Given the description of an element on the screen output the (x, y) to click on. 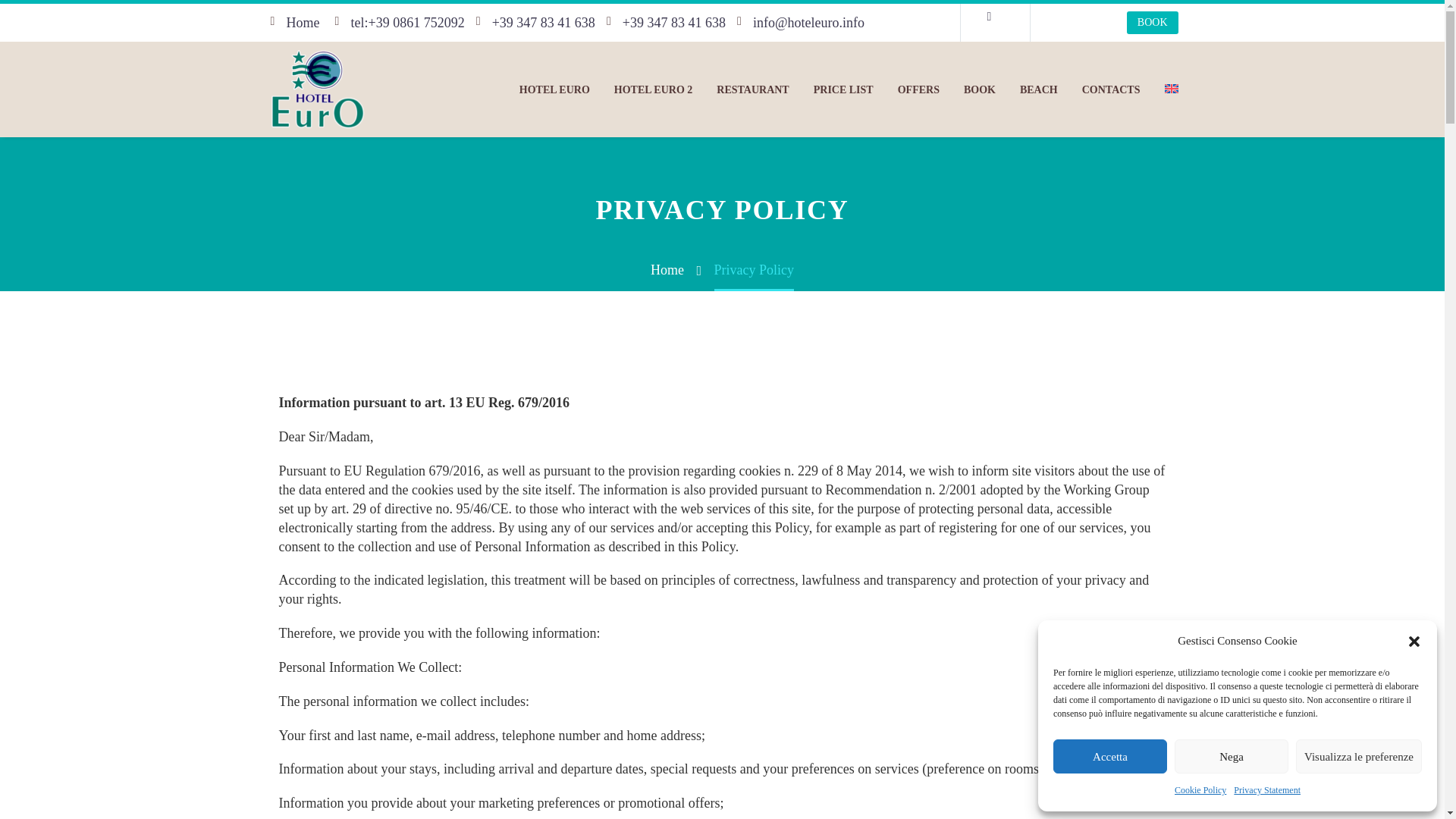
Accetta (1109, 756)
Visualizza le preferenze (1358, 756)
BOOK (979, 89)
BEACH (1038, 89)
HOTEL EURO 2 (653, 89)
Nega (1231, 756)
RESTAURANT (752, 89)
PRICE LIST (843, 89)
BOOK (1151, 22)
HOTEL EURO (554, 89)
Privacy Statement (1266, 790)
CONTACTS (1111, 89)
Cookie Policy (1199, 790)
OFFERS (918, 89)
